Given the description of an element on the screen output the (x, y) to click on. 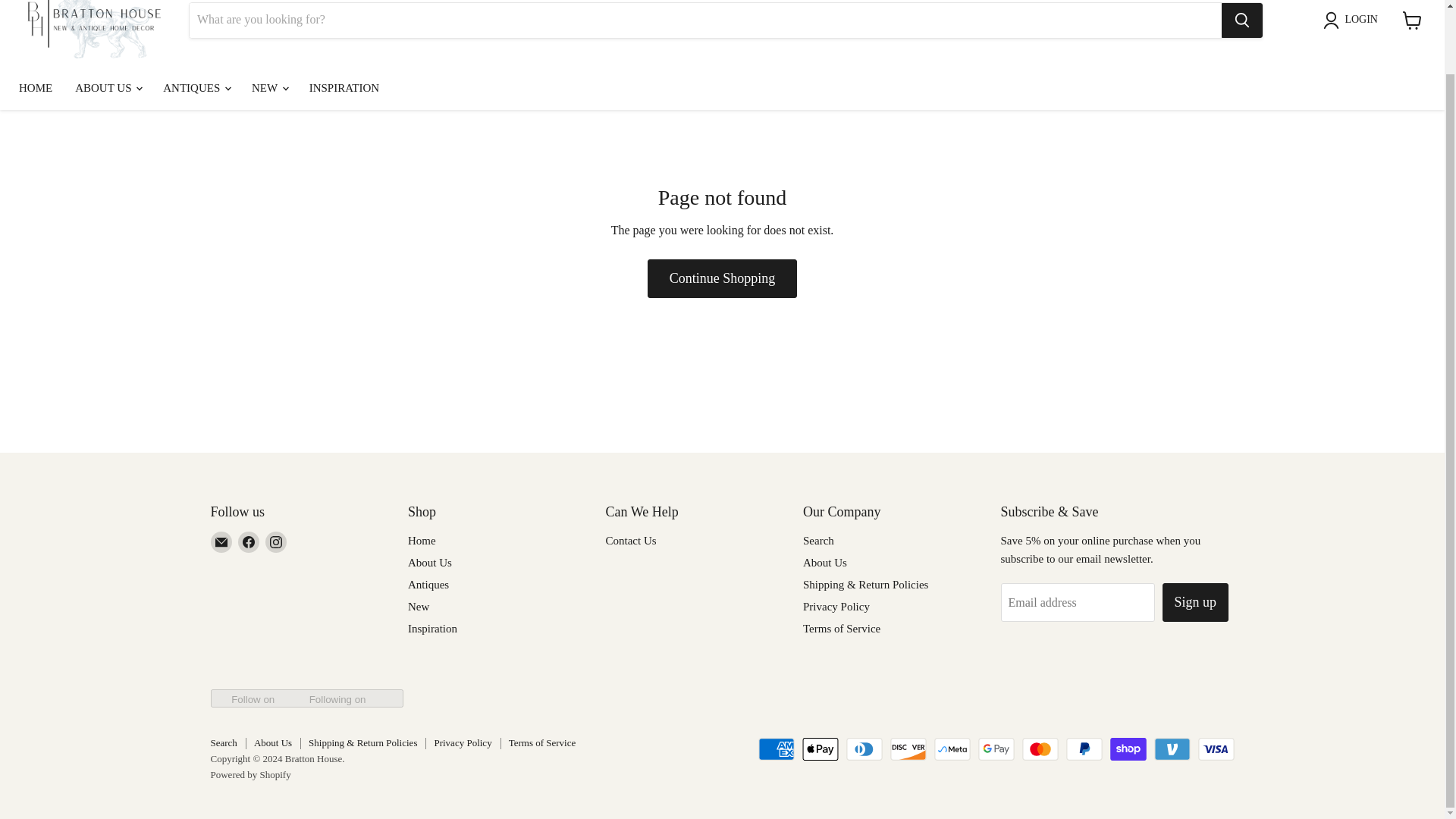
Diners Club (863, 748)
PayPal (1083, 748)
American Express (776, 748)
Google Pay (996, 748)
LOGIN (1353, 20)
Shop Pay (1128, 748)
Discover (907, 748)
Visa (1216, 748)
Meta Pay (952, 748)
Mastercard (1040, 748)
